Given the description of an element on the screen output the (x, y) to click on. 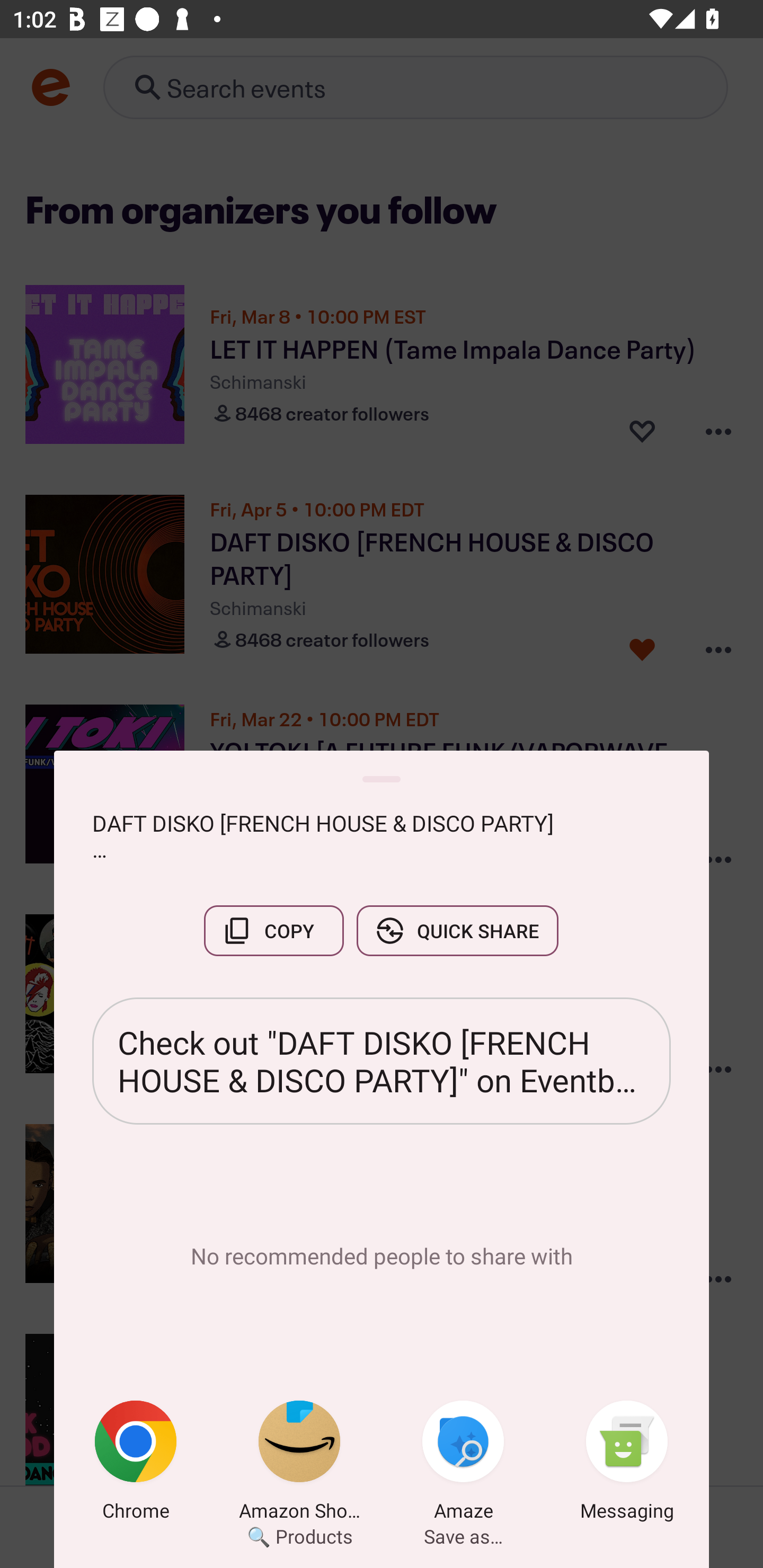
COPY (273, 930)
QUICK SHARE (457, 930)
Chrome (135, 1463)
Amazon Shopping 🔍 Products (299, 1463)
Amaze Save as… (463, 1463)
Messaging (626, 1463)
